Given the description of an element on the screen output the (x, y) to click on. 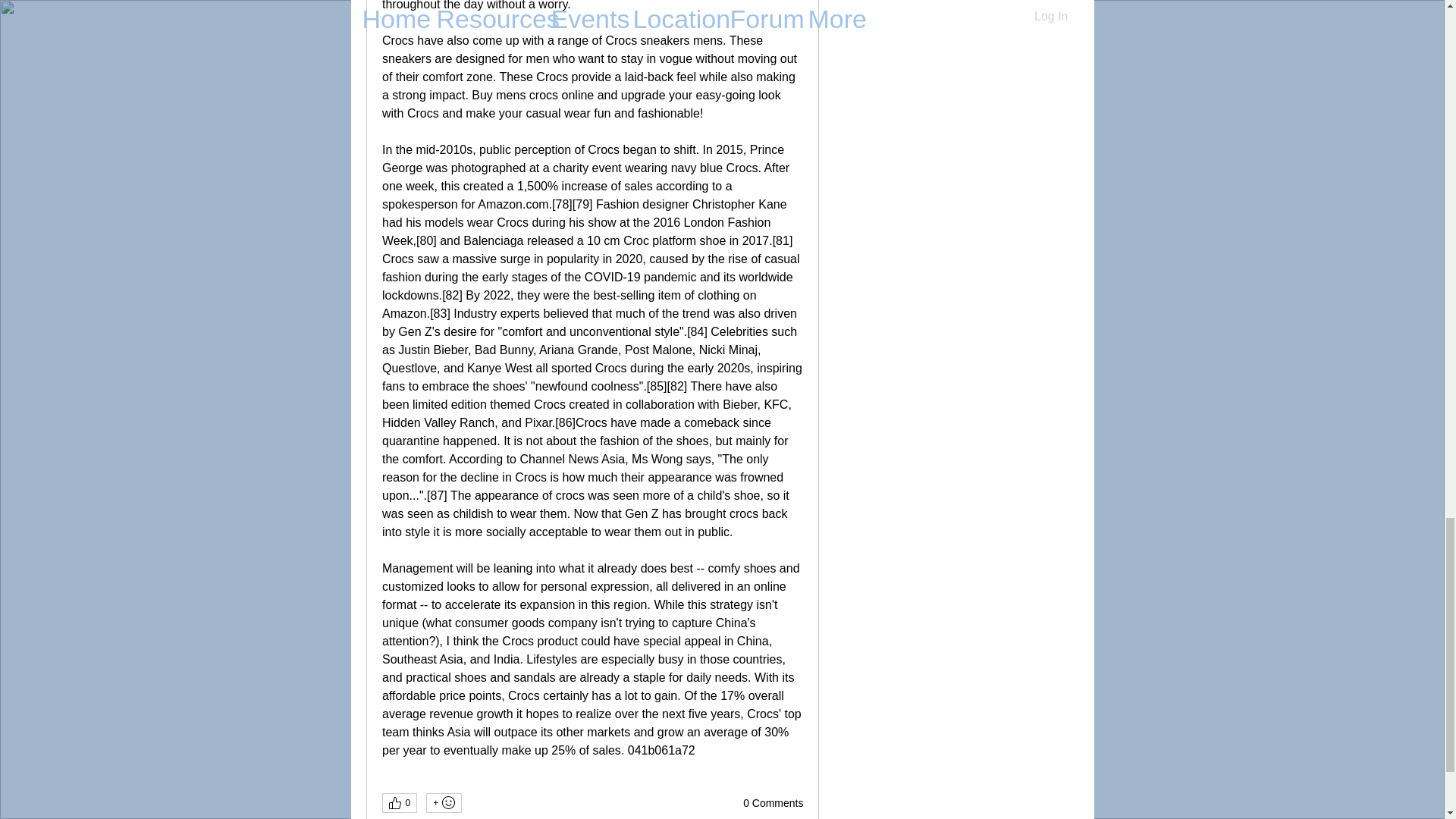
0 Comments (772, 803)
